Given the description of an element on the screen output the (x, y) to click on. 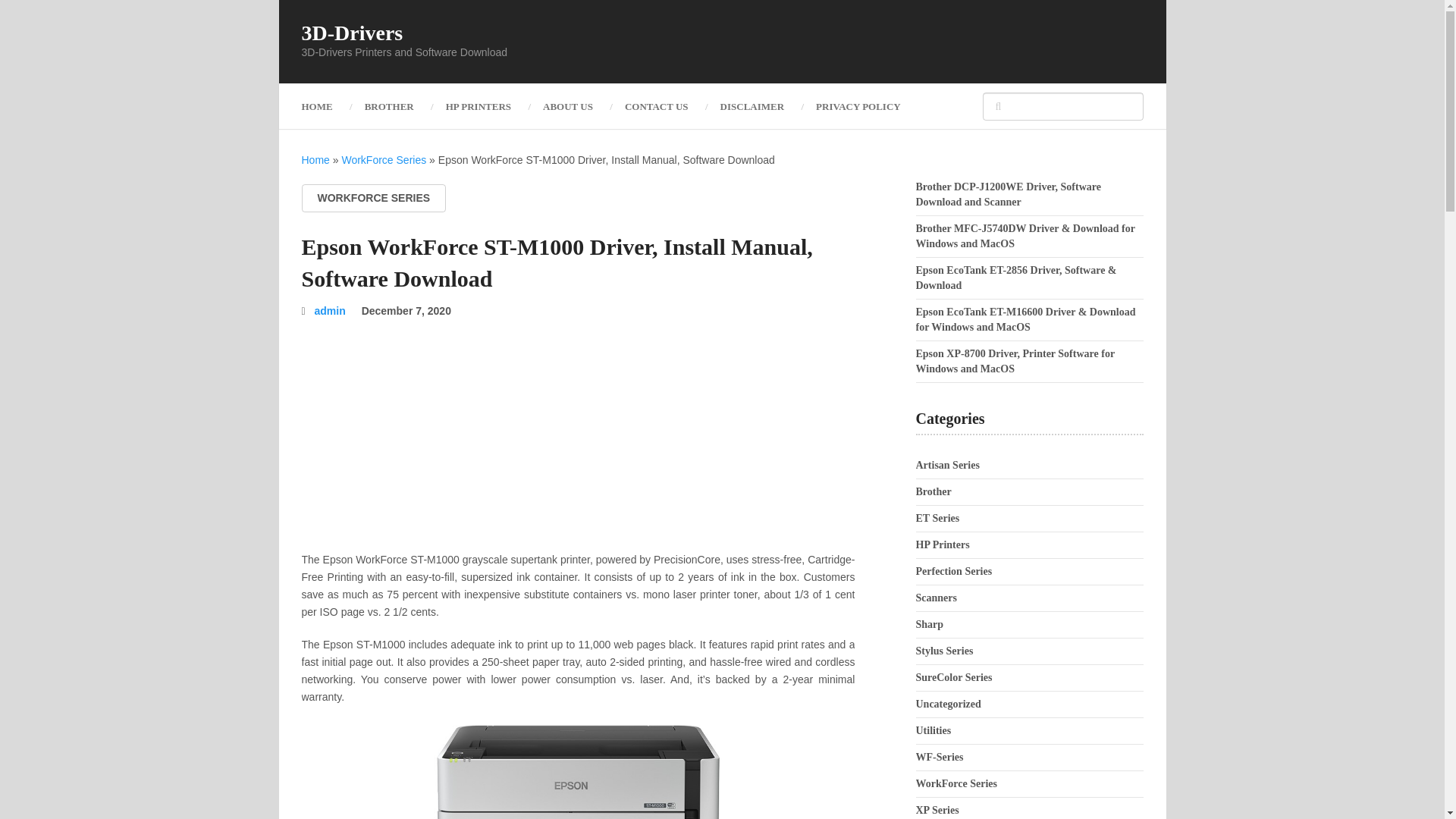
HP PRINTERS (478, 105)
3D-Drivers (352, 33)
Advertisement (578, 445)
HOME (325, 105)
PRIVACY POLICY (858, 105)
WORKFORCE SERIES (373, 198)
admin (330, 310)
ABOUT US (567, 105)
View all posts in WorkForce Series (373, 198)
Posts by admin (330, 310)
Home (315, 159)
DISCLAIMER (752, 105)
BROTHER (389, 105)
CONTACT US (656, 105)
